Given the description of an element on the screen output the (x, y) to click on. 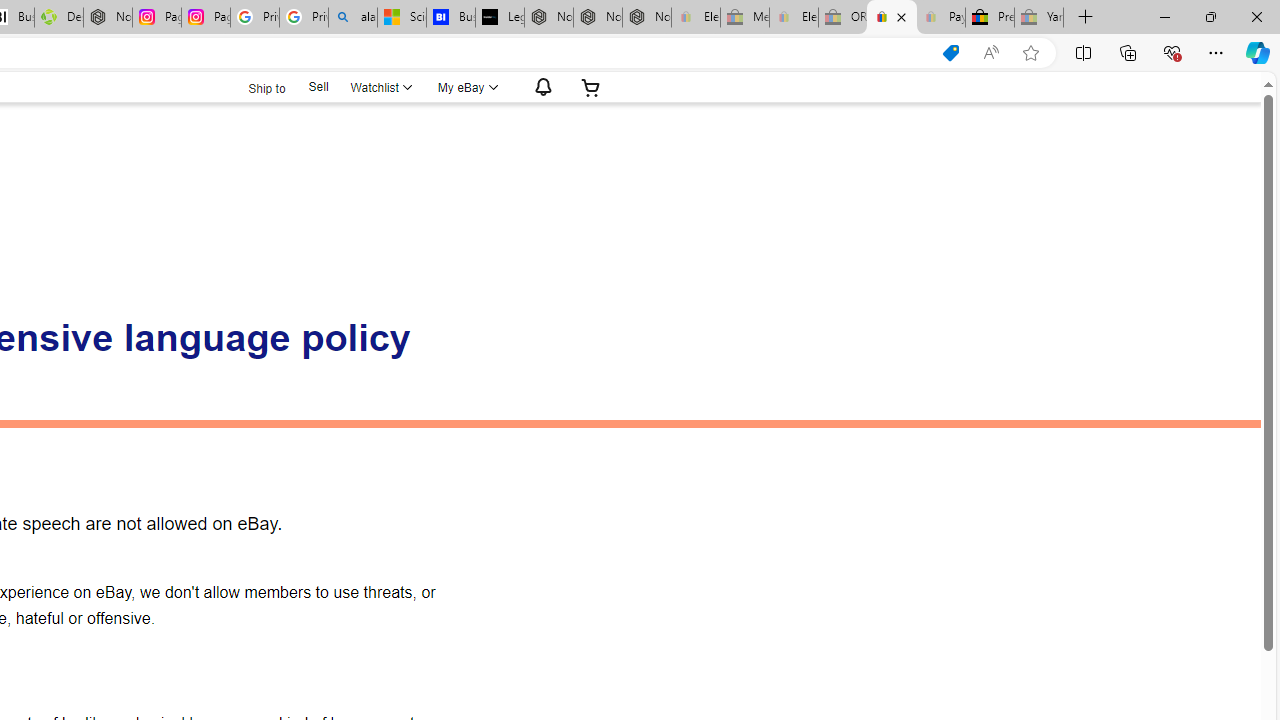
Notifications (538, 87)
Settings and more (Alt+F) (1215, 52)
Press Room - eBay Inc. (989, 17)
alabama high school quarterback dies - Search (353, 17)
Threats and offensive language policy | eBay (891, 17)
Ship to (253, 85)
New Tab (1085, 17)
Minimize (1164, 16)
Browser essentials (1171, 52)
